Given the description of an element on the screen output the (x, y) to click on. 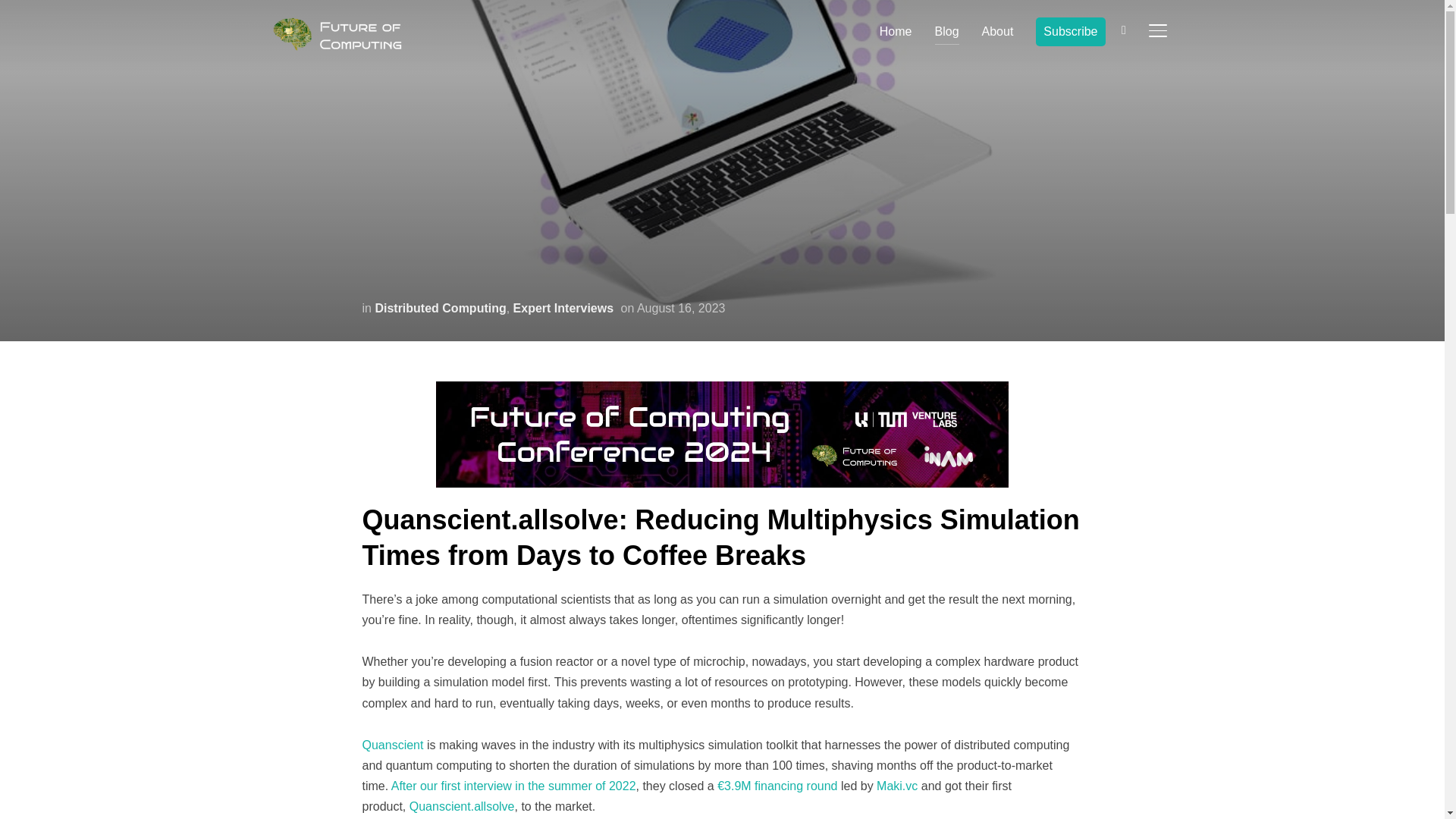
Subscribe (1070, 31)
FuCon2024-Banner (722, 391)
About (997, 31)
Distributed Computing (439, 308)
After our first interview in the summer of 2022 (513, 785)
Quanscient (392, 744)
Quanscient.allsolve (462, 806)
Maki.vc (896, 785)
Expert Interviews (563, 308)
Search (15, 15)
